Given the description of an element on the screen output the (x, y) to click on. 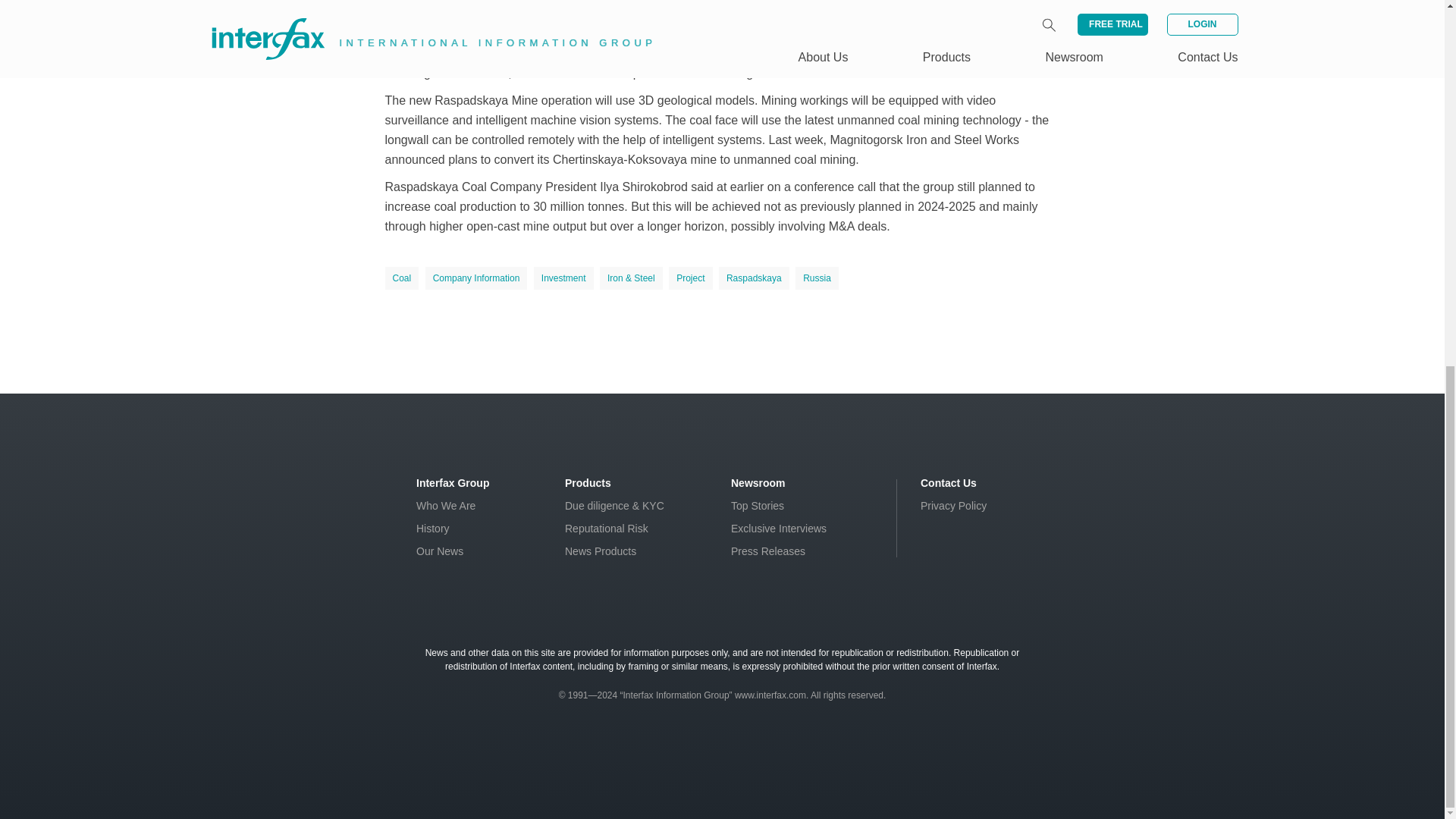
Investment (564, 277)
Coal (402, 277)
Company Information (476, 277)
